Given the description of an element on the screen output the (x, y) to click on. 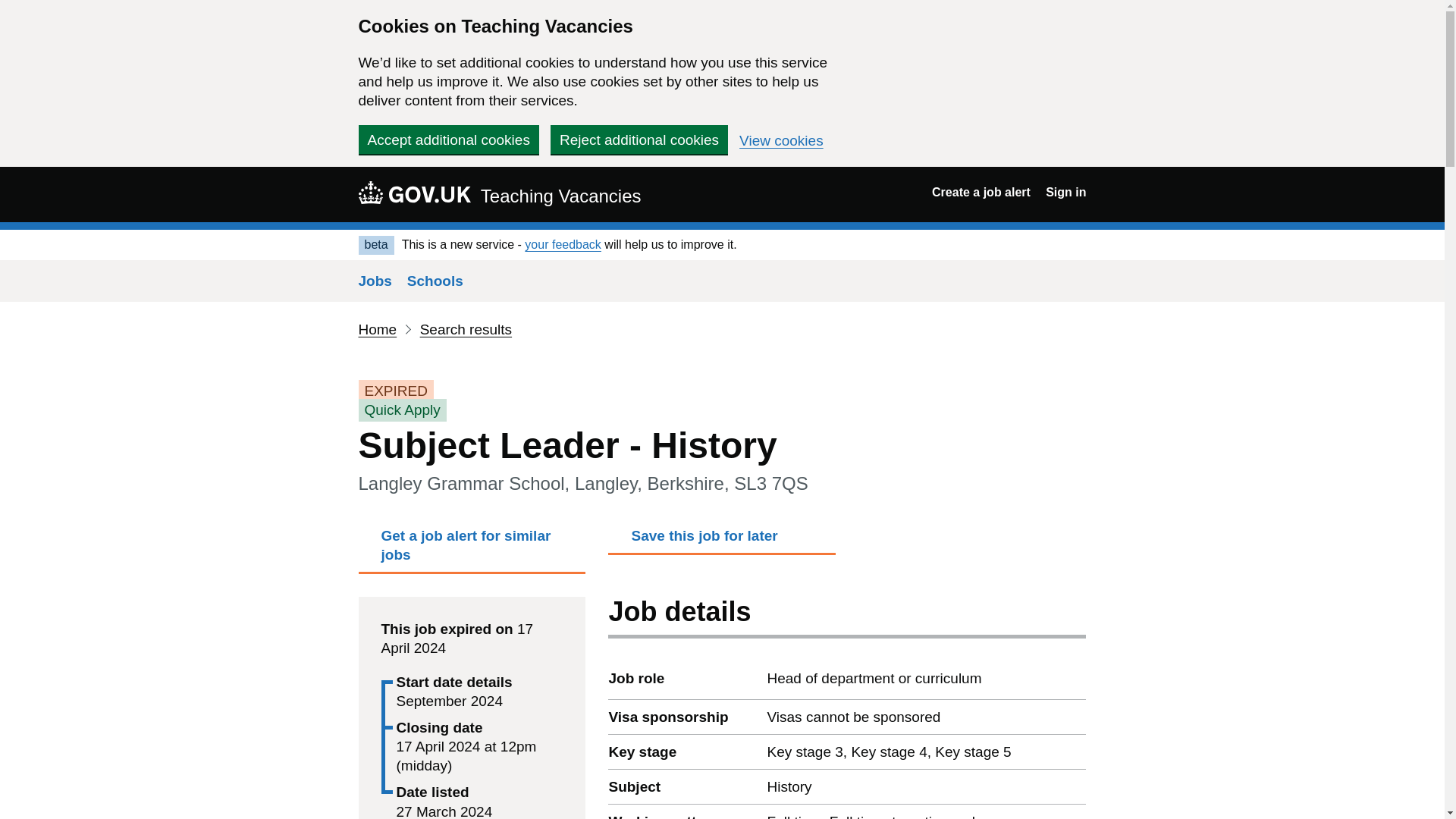
Search results (466, 329)
Create a job alert (980, 192)
Schools (435, 281)
View cookies (781, 140)
Home (377, 329)
GOV.UK (414, 191)
Sign in (1065, 192)
Save this job for later (721, 540)
Get a job alert for similar jobs (471, 549)
